Given the description of an element on the screen output the (x, y) to click on. 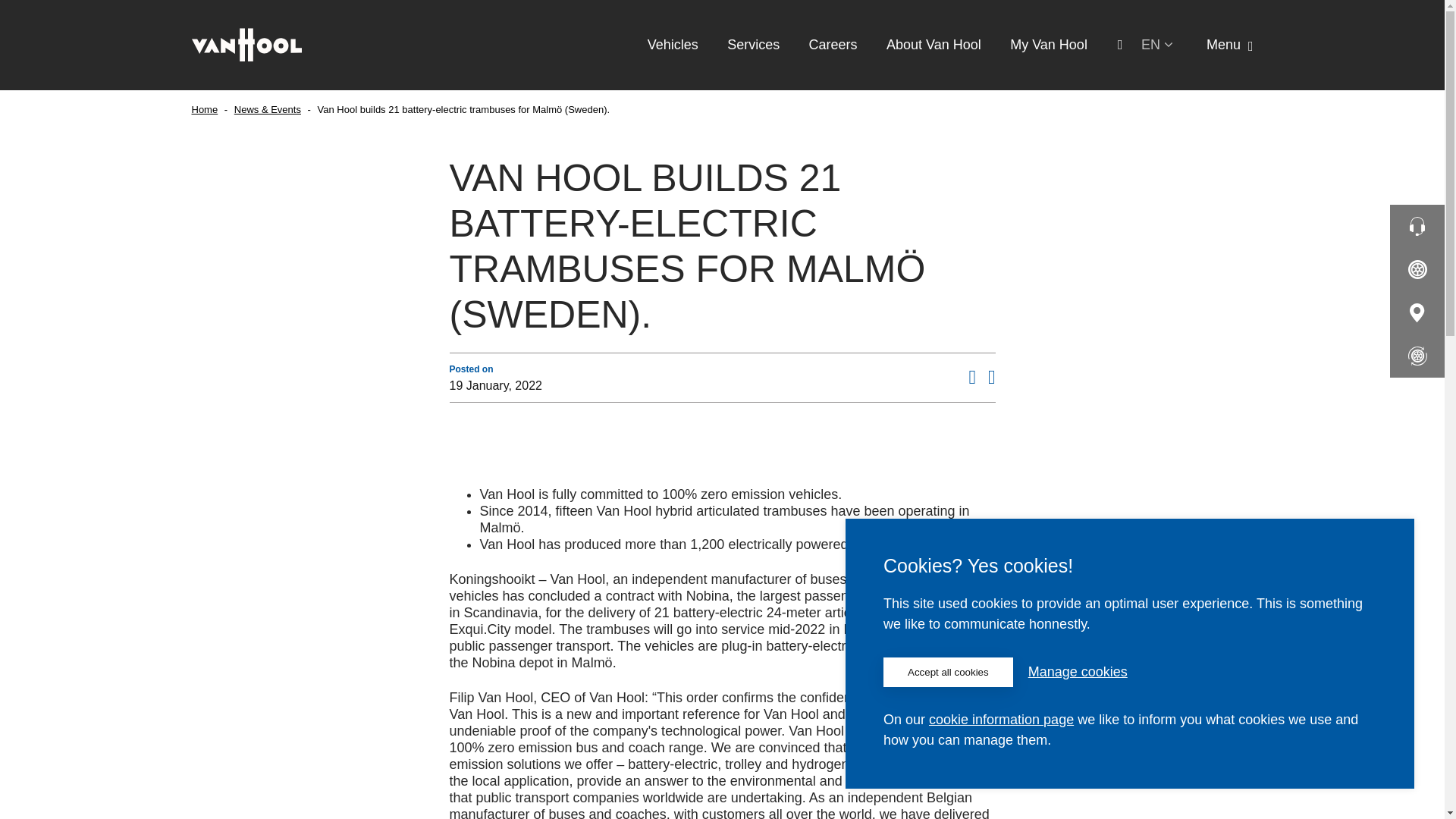
Home (203, 109)
Menu (1230, 44)
About Van Hool (933, 44)
Services (752, 44)
Vehicles (672, 44)
My Van Hool (1048, 44)
Careers (833, 44)
